Given the description of an element on the screen output the (x, y) to click on. 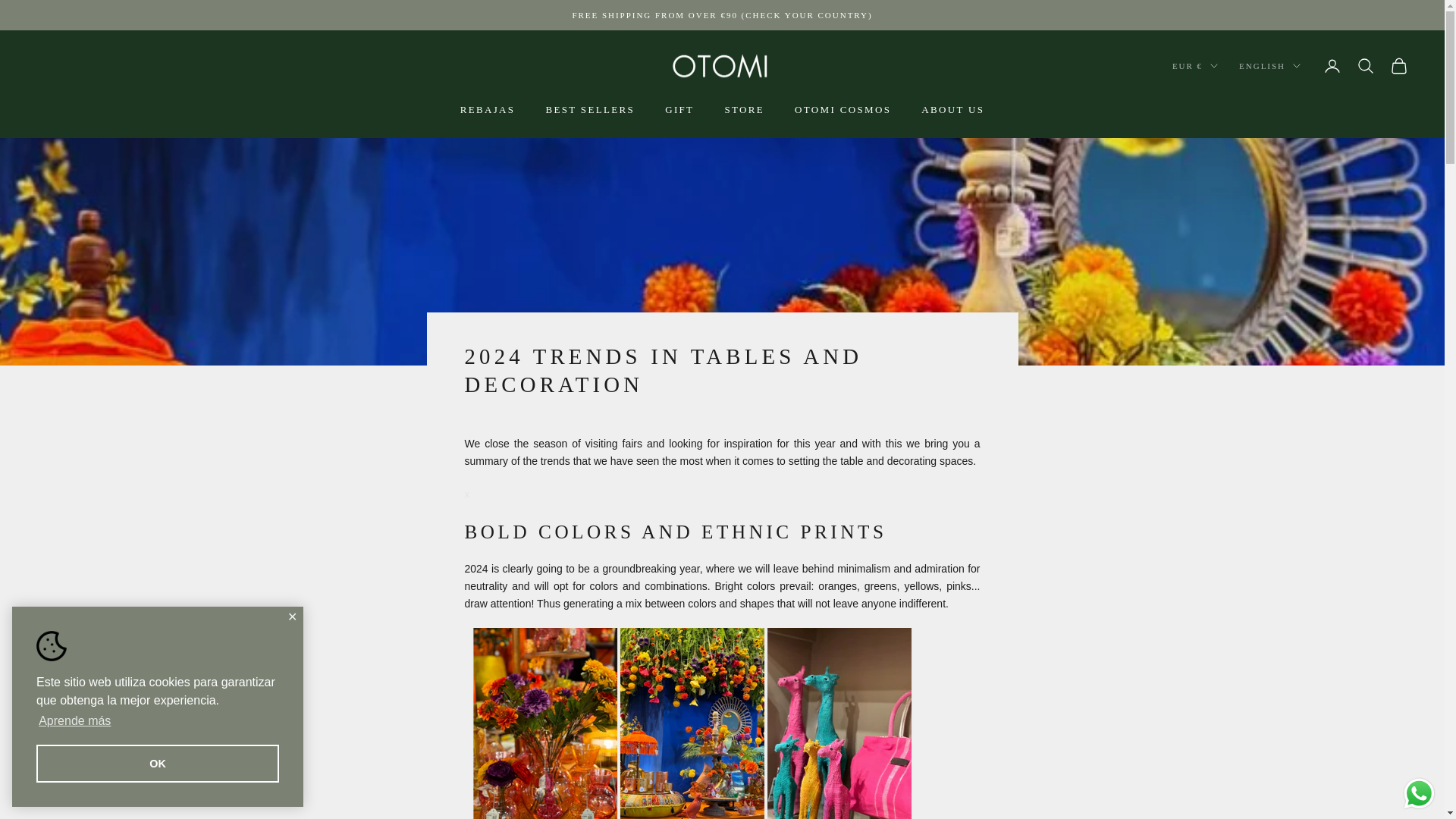
OK (157, 763)
REBAJAS (487, 109)
BEST SELLERS (589, 109)
OTOMI (722, 65)
